Given the description of an element on the screen output the (x, y) to click on. 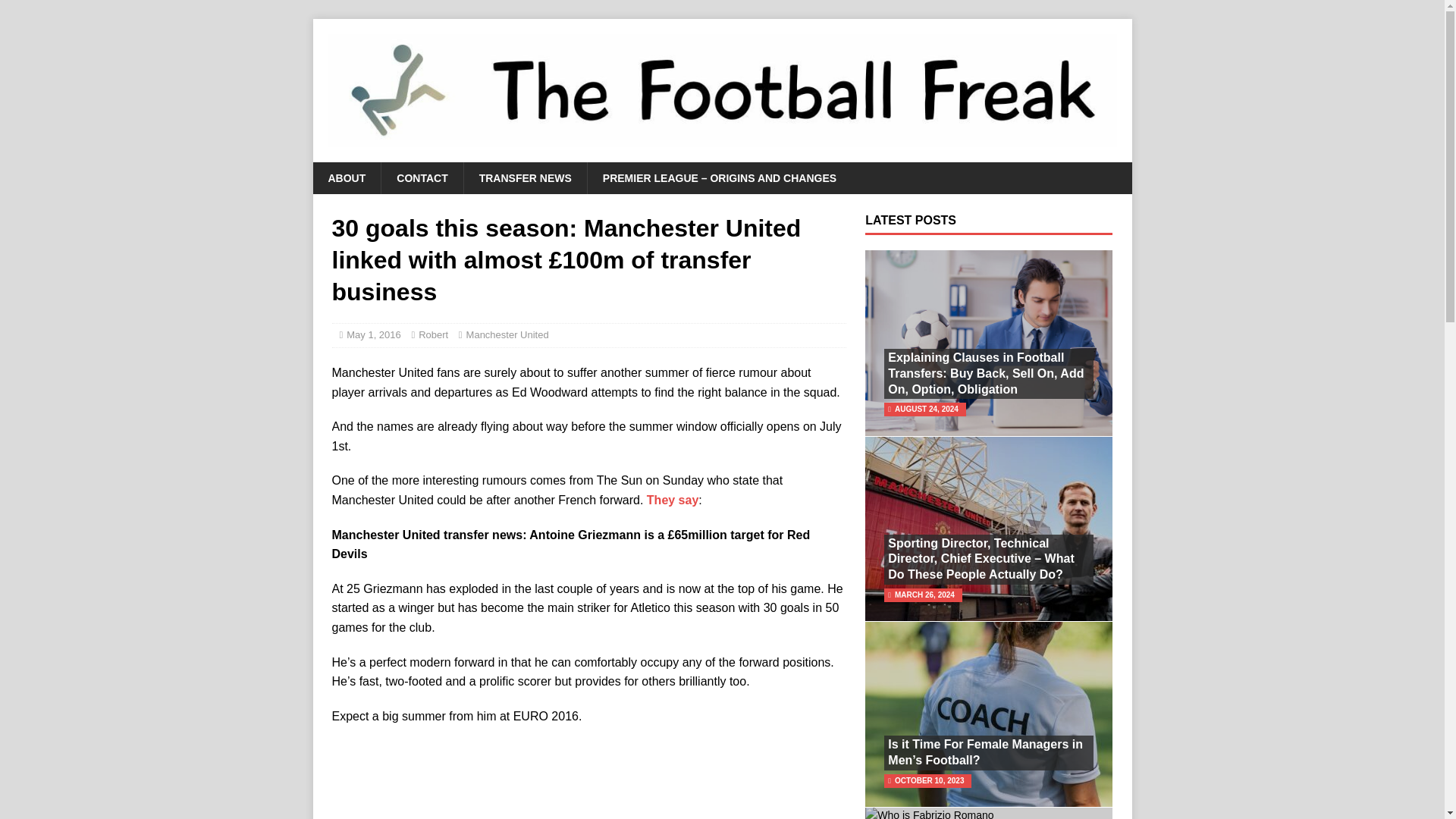
Manchester United (506, 334)
TRANSFER NEWS (524, 178)
ABOUT (346, 178)
MARCH 26, 2024 (925, 594)
AUGUST 24, 2024 (926, 408)
CONTACT (421, 178)
Robert (433, 334)
They say (672, 499)
May 1, 2016 (373, 334)
